Given the description of an element on the screen output the (x, y) to click on. 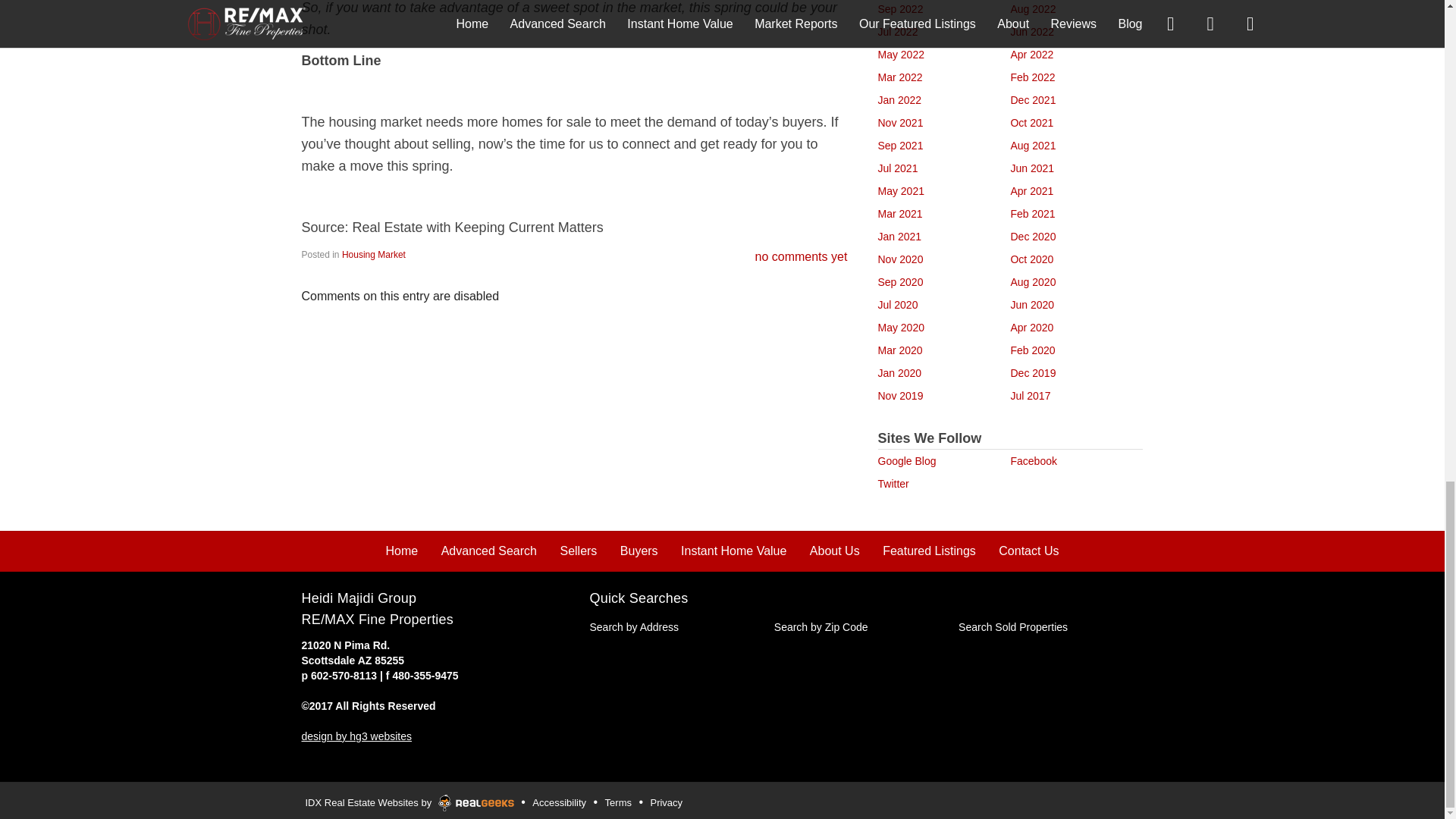
no comments yet (801, 256)
Housing Market (374, 254)
